Given the description of an element on the screen output the (x, y) to click on. 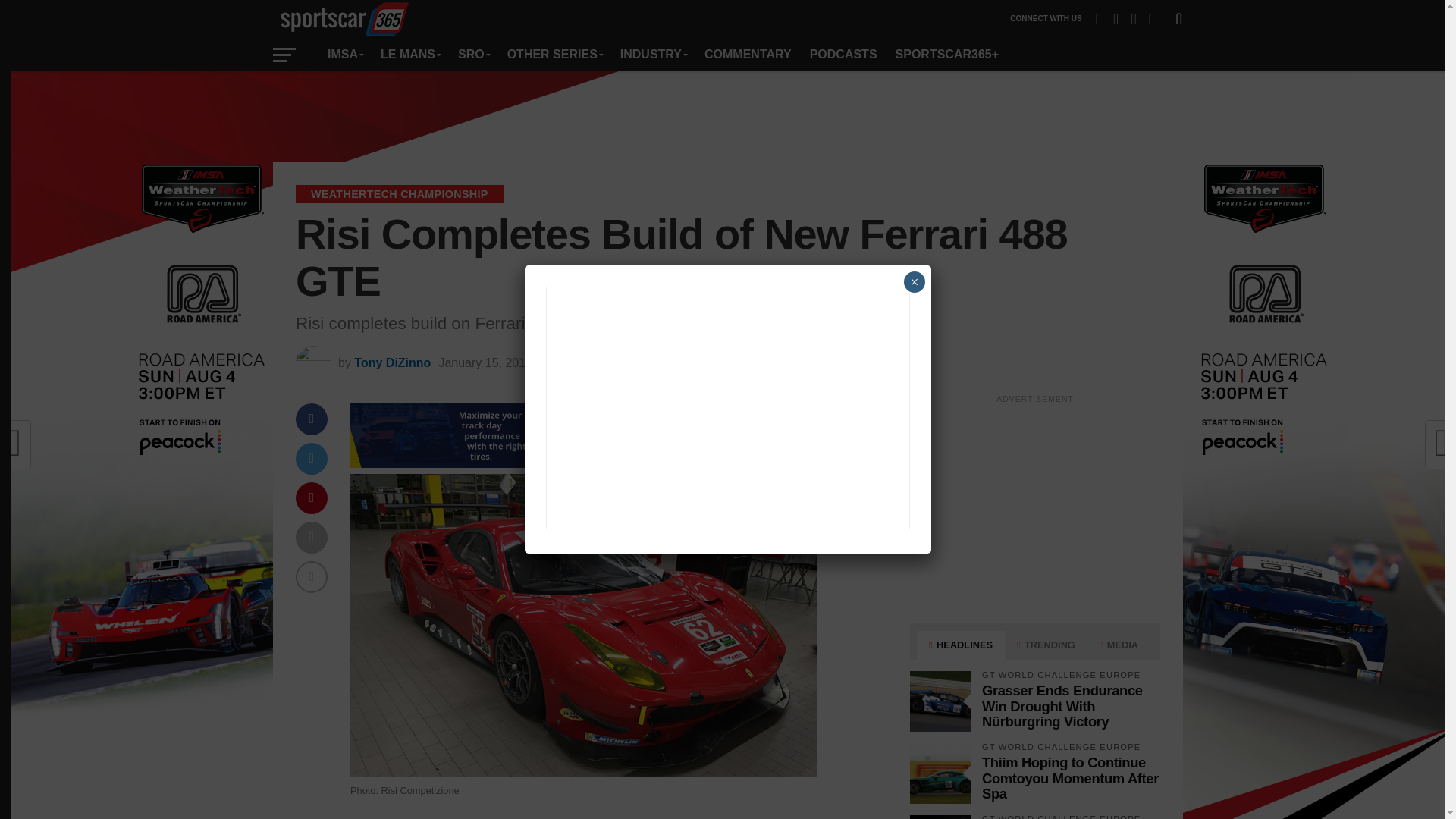
3rd party ad content (1034, 505)
Posts by Tony DiZinno (391, 362)
3rd party ad content (727, 116)
